Given the description of an element on the screen output the (x, y) to click on. 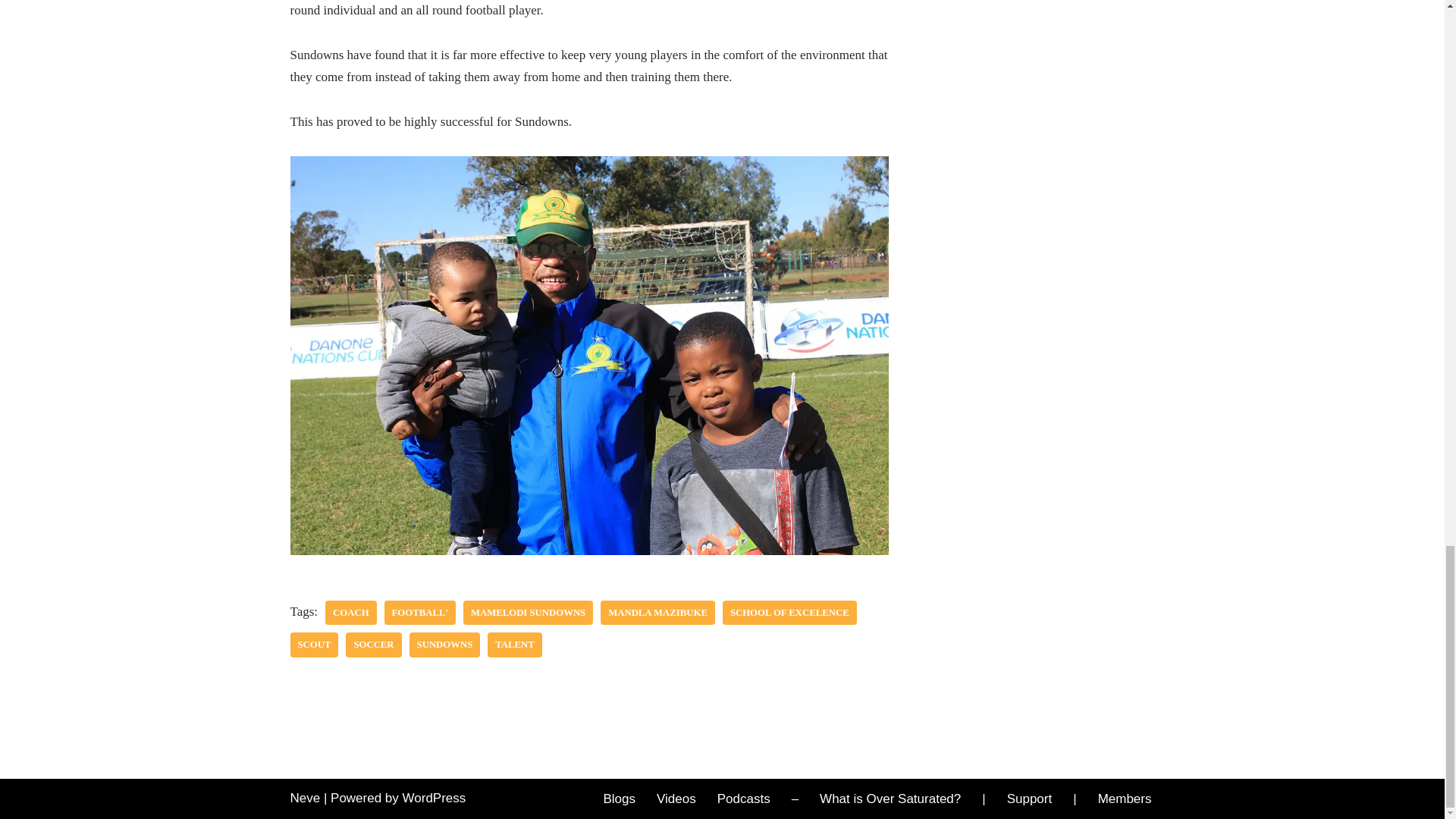
Soccer (373, 644)
Talent (514, 644)
MAMELODI SUNDOWNS (527, 612)
SCOUT (313, 644)
FOOTBALL' (419, 612)
COACH (349, 612)
Coach (349, 612)
School of Excelence (789, 612)
Mamelodi Sundowns (527, 612)
SCHOOL OF EXCELENCE (789, 612)
